Given the description of an element on the screen output the (x, y) to click on. 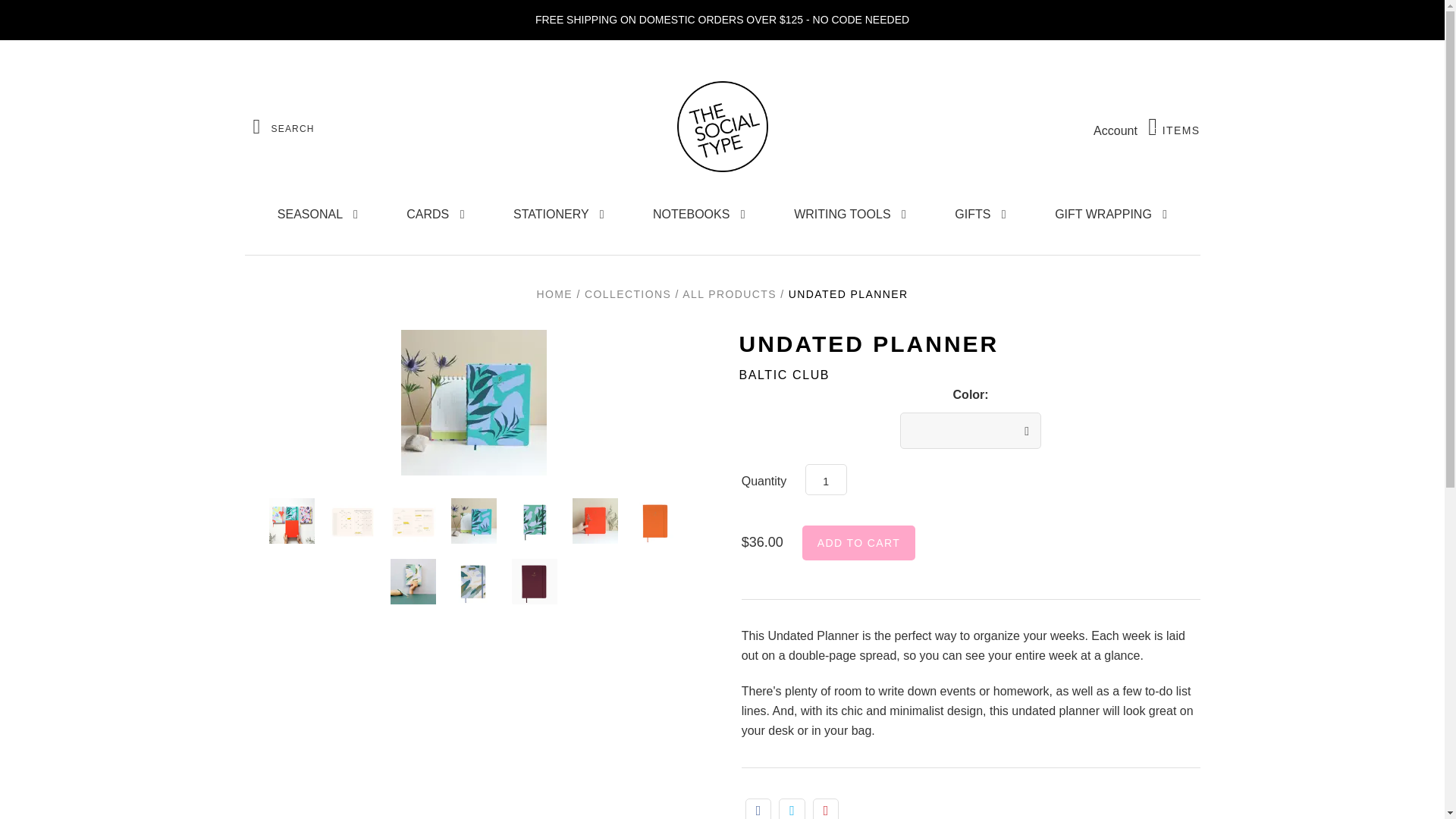
Account (1115, 130)
1 (826, 479)
CARDS (435, 214)
STATIONERY (1173, 126)
SEASONAL (558, 214)
Add to cart (317, 214)
